Given the description of an element on the screen output the (x, y) to click on. 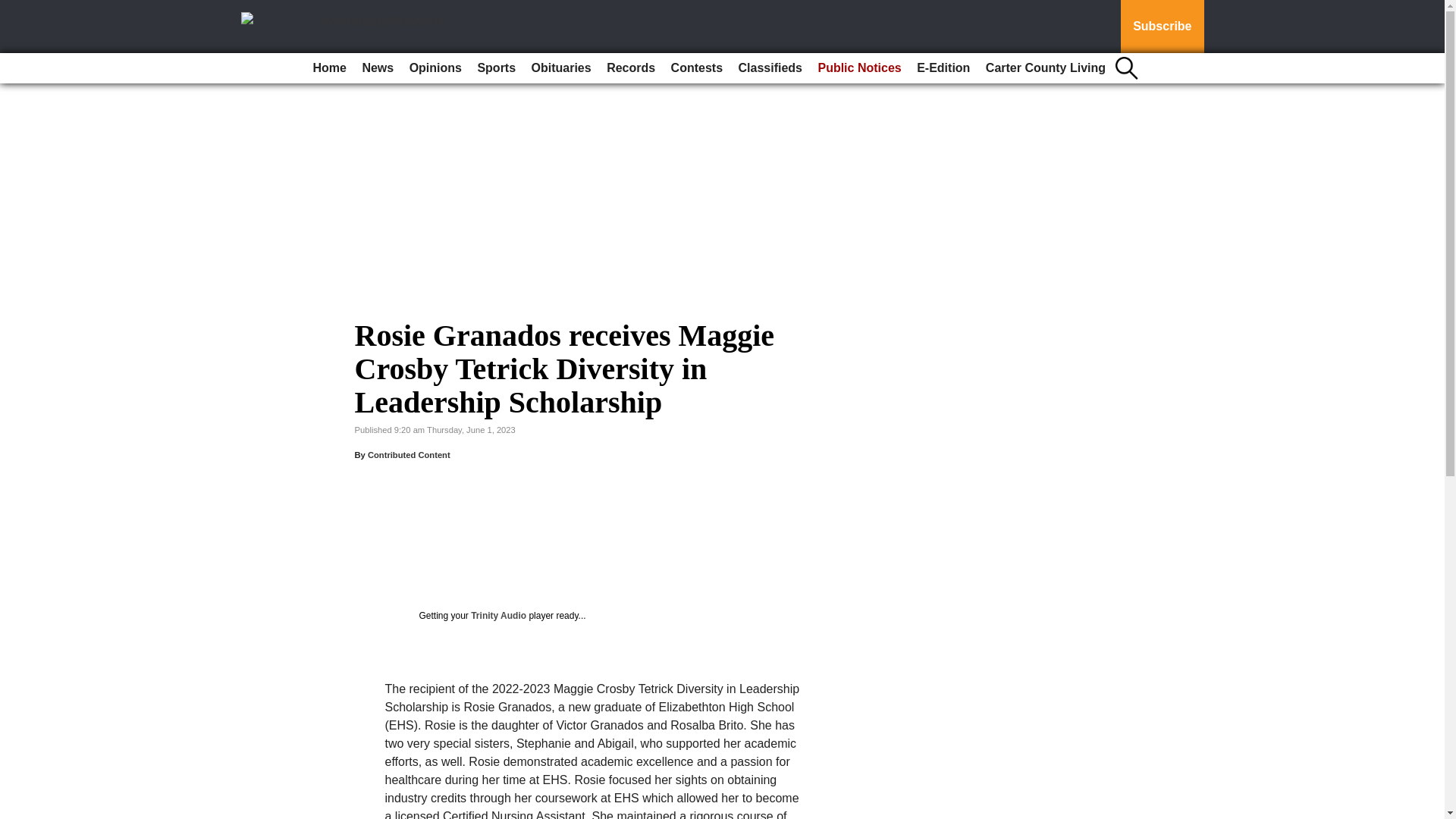
Public Notices (858, 68)
E-Edition (943, 68)
Contests (697, 68)
Carter County Living (1045, 68)
News (376, 68)
Records (630, 68)
Subscribe (1162, 26)
Obituaries (560, 68)
Classifieds (770, 68)
Home (328, 68)
